Given the description of an element on the screen output the (x, y) to click on. 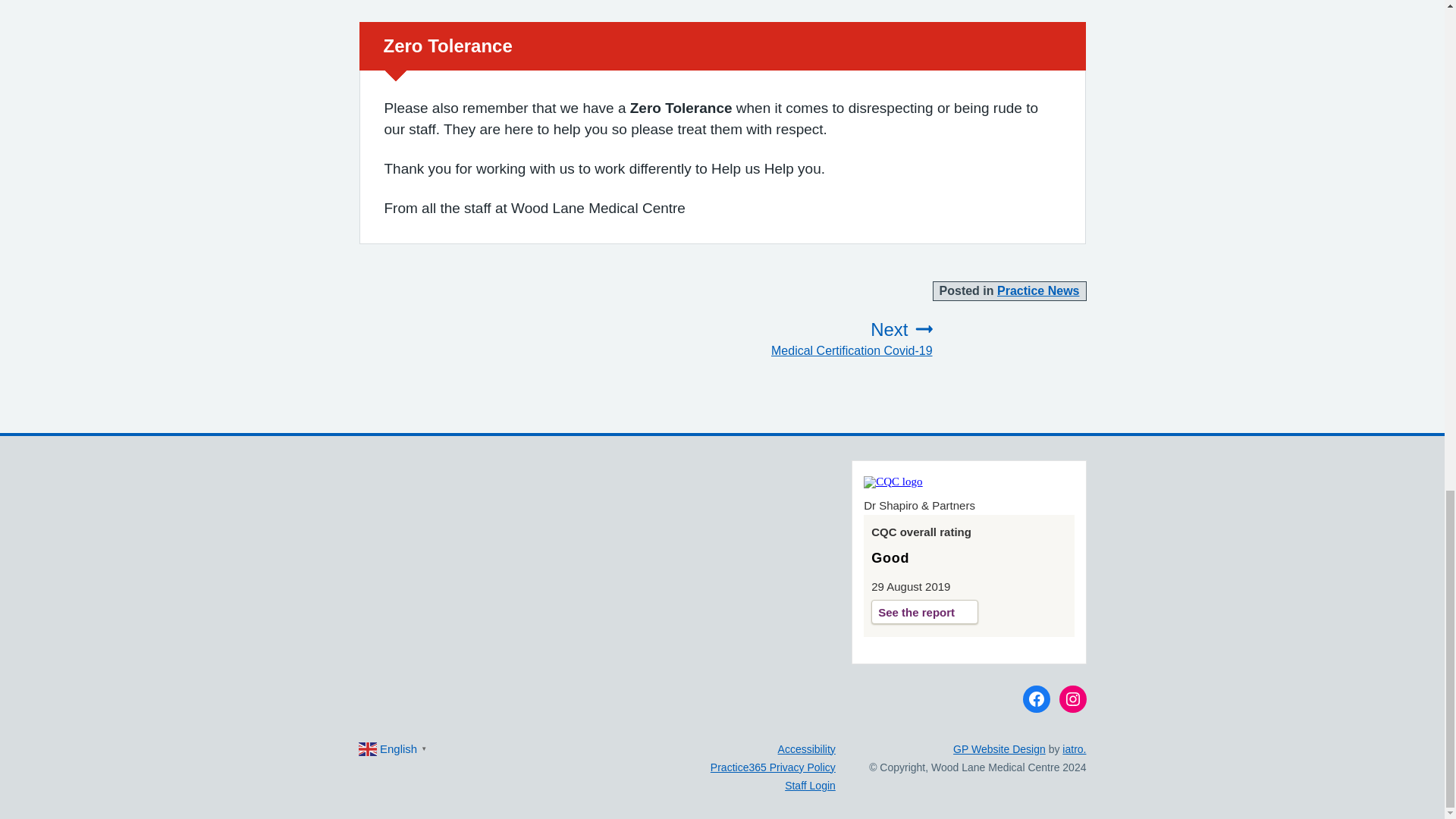
Practice News (823, 338)
Instagram (1038, 290)
See the report (1072, 698)
Facebook (924, 610)
CQC Logo (1035, 698)
